Given the description of an element on the screen output the (x, y) to click on. 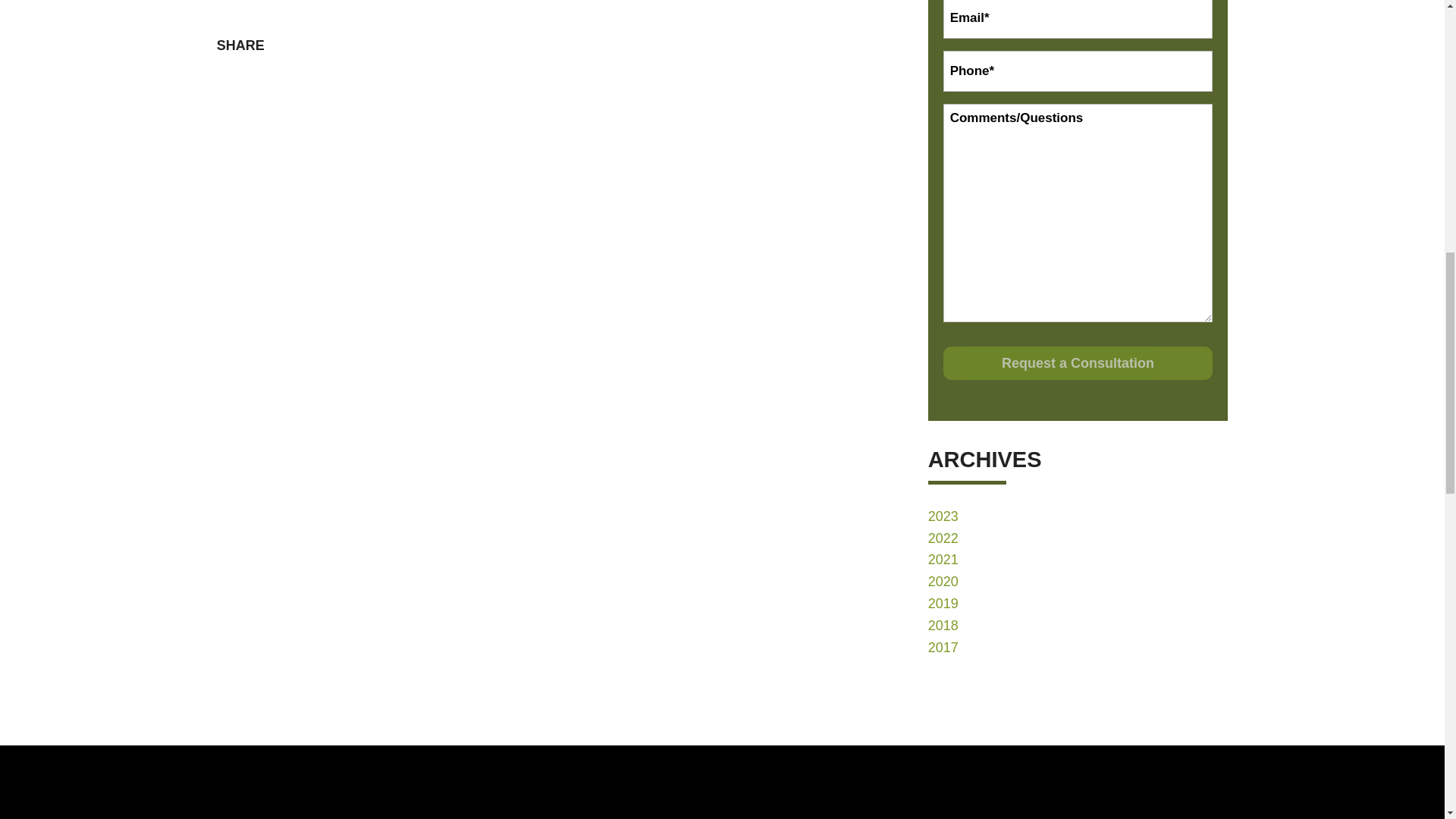
Request a Consultation (1077, 363)
